Given the description of an element on the screen output the (x, y) to click on. 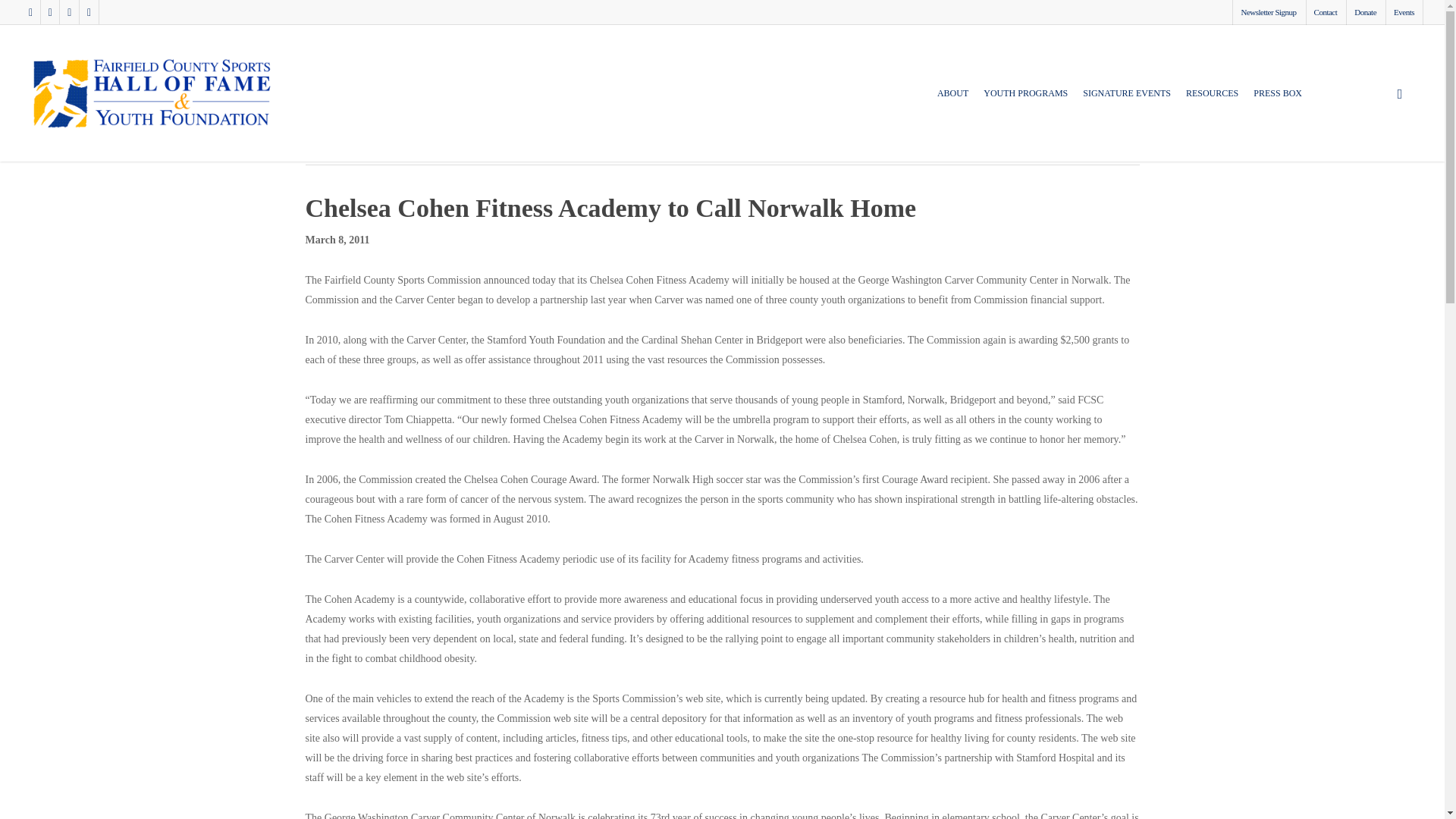
ABOUT (952, 103)
Love this (1060, 126)
Newsletter Signup (1267, 12)
Contact (1325, 12)
Donate (1364, 12)
SIGNATURE EVENTS (1126, 103)
Events (1404, 12)
Posts by Administer (337, 131)
YOUTH PROGRAMS (1025, 103)
